Given the description of an element on the screen output the (x, y) to click on. 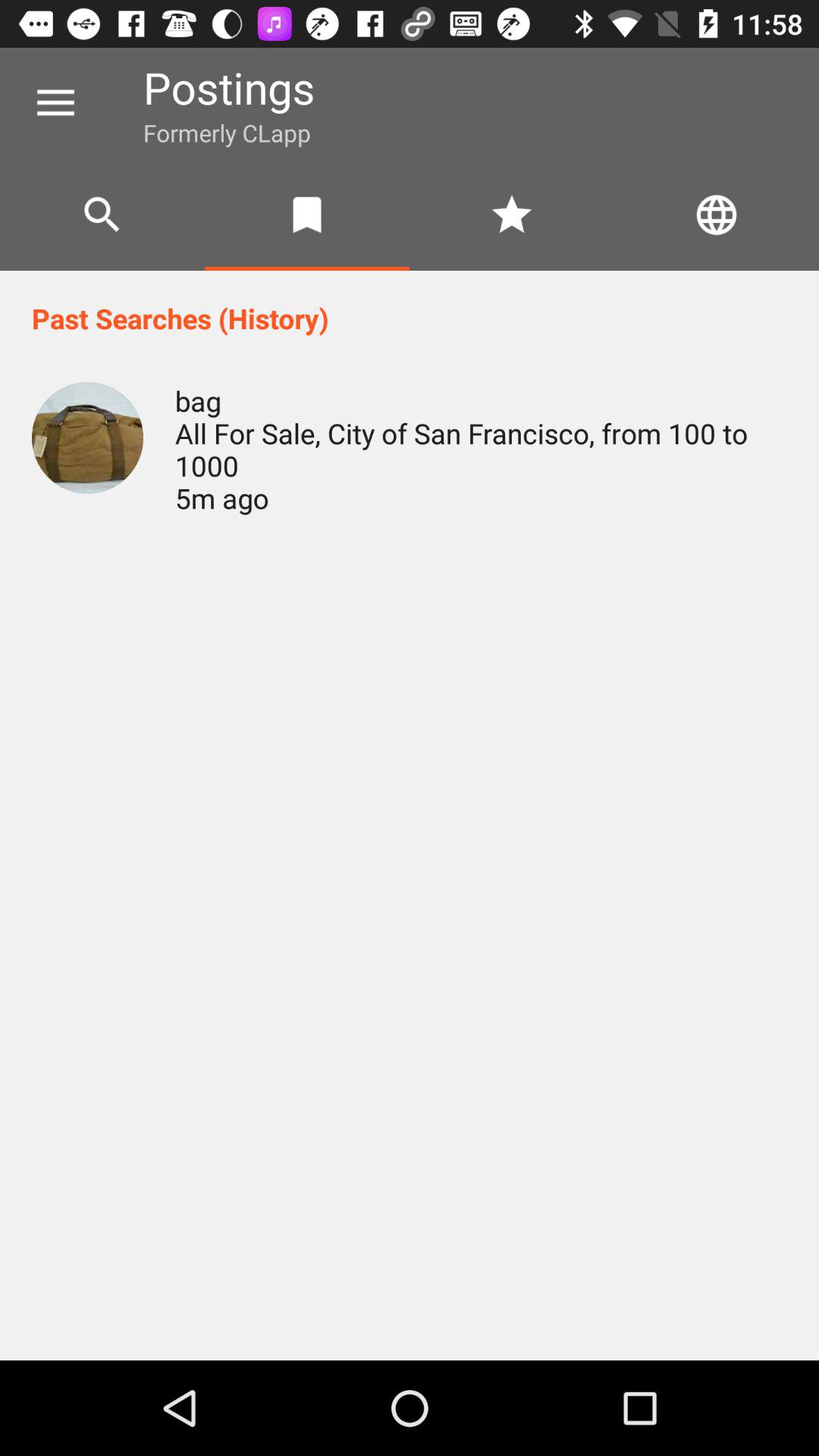
view item (87, 437)
